Given the description of an element on the screen output the (x, y) to click on. 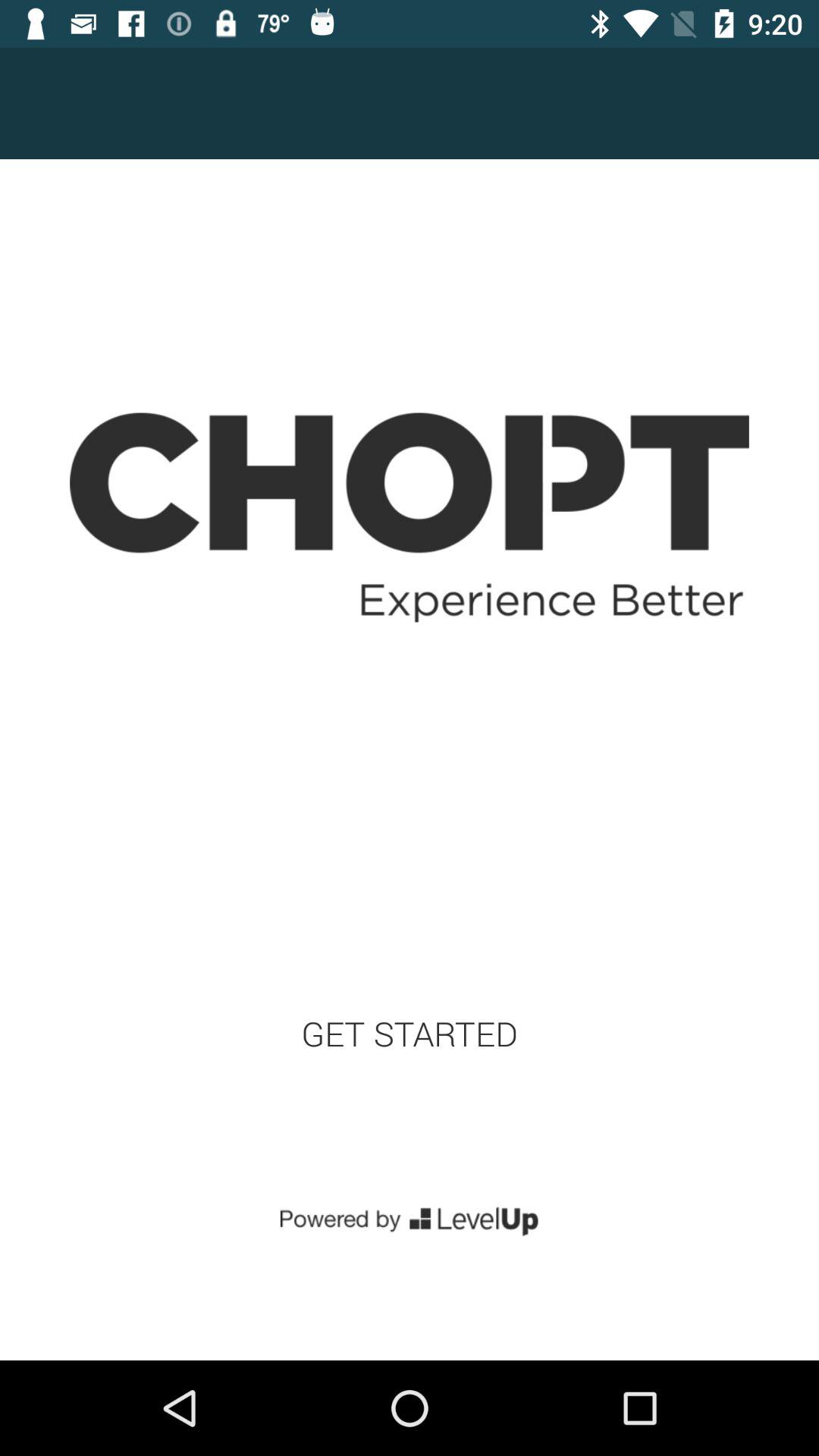
scroll until get started item (409, 1033)
